Given the description of an element on the screen output the (x, y) to click on. 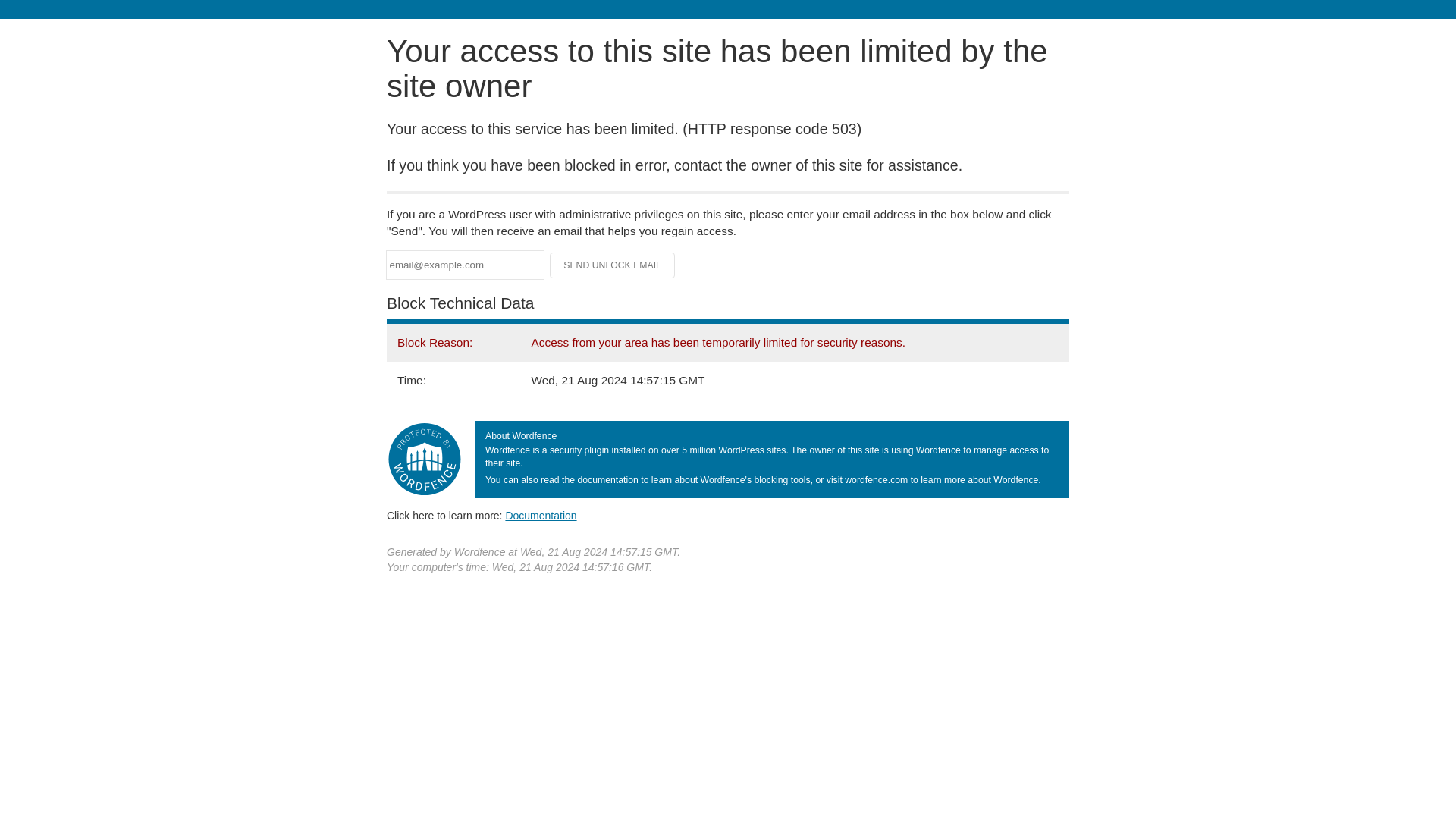
Send Unlock Email (612, 265)
Documentation (540, 515)
Send Unlock Email (612, 265)
